Given the description of an element on the screen output the (x, y) to click on. 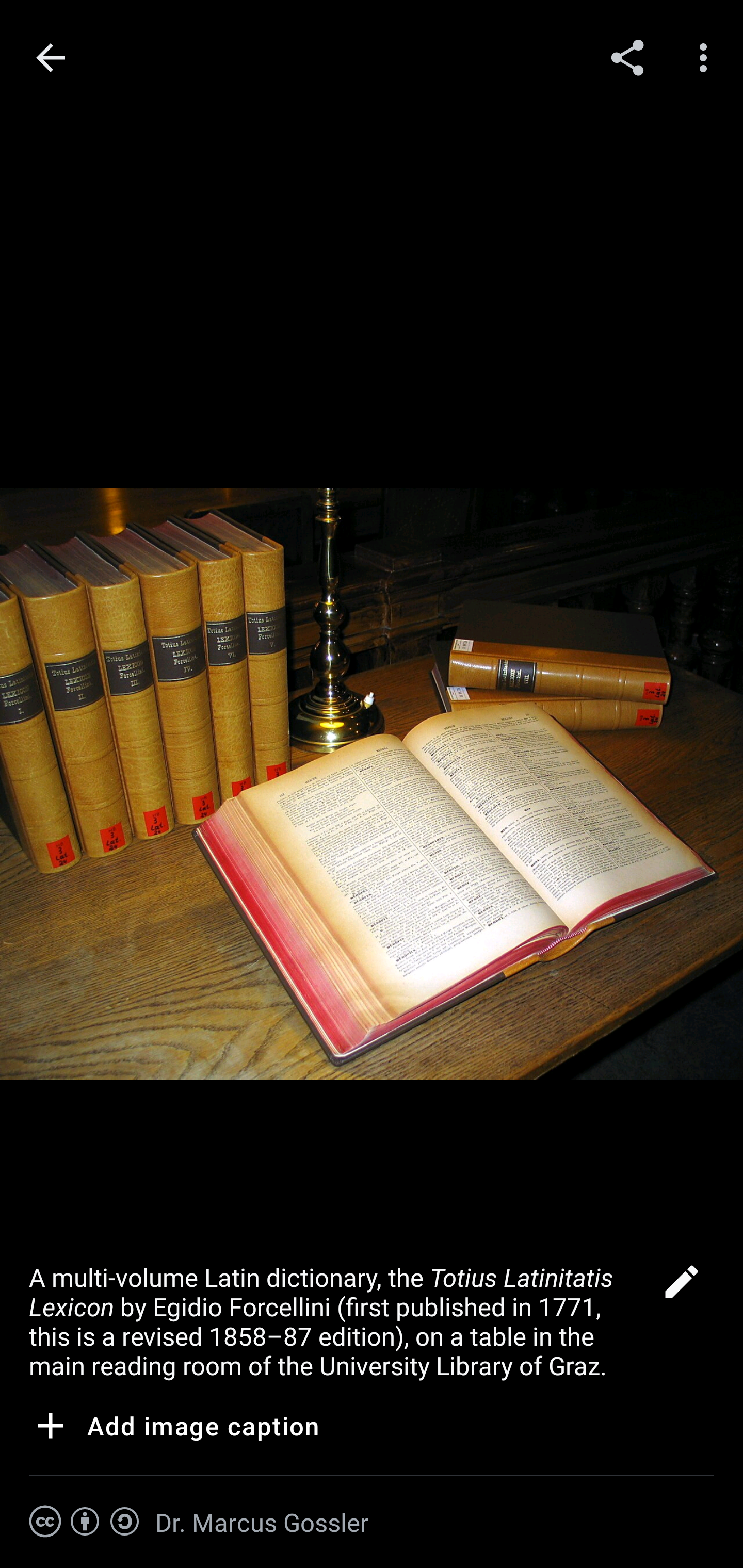
Navigate up (50, 57)
Share (626, 57)
More options (706, 57)
Edit image caption (681, 1286)
Add image caption (174, 1428)
CC BY-SA 3.0 (84, 1521)
